Given the description of an element on the screen output the (x, y) to click on. 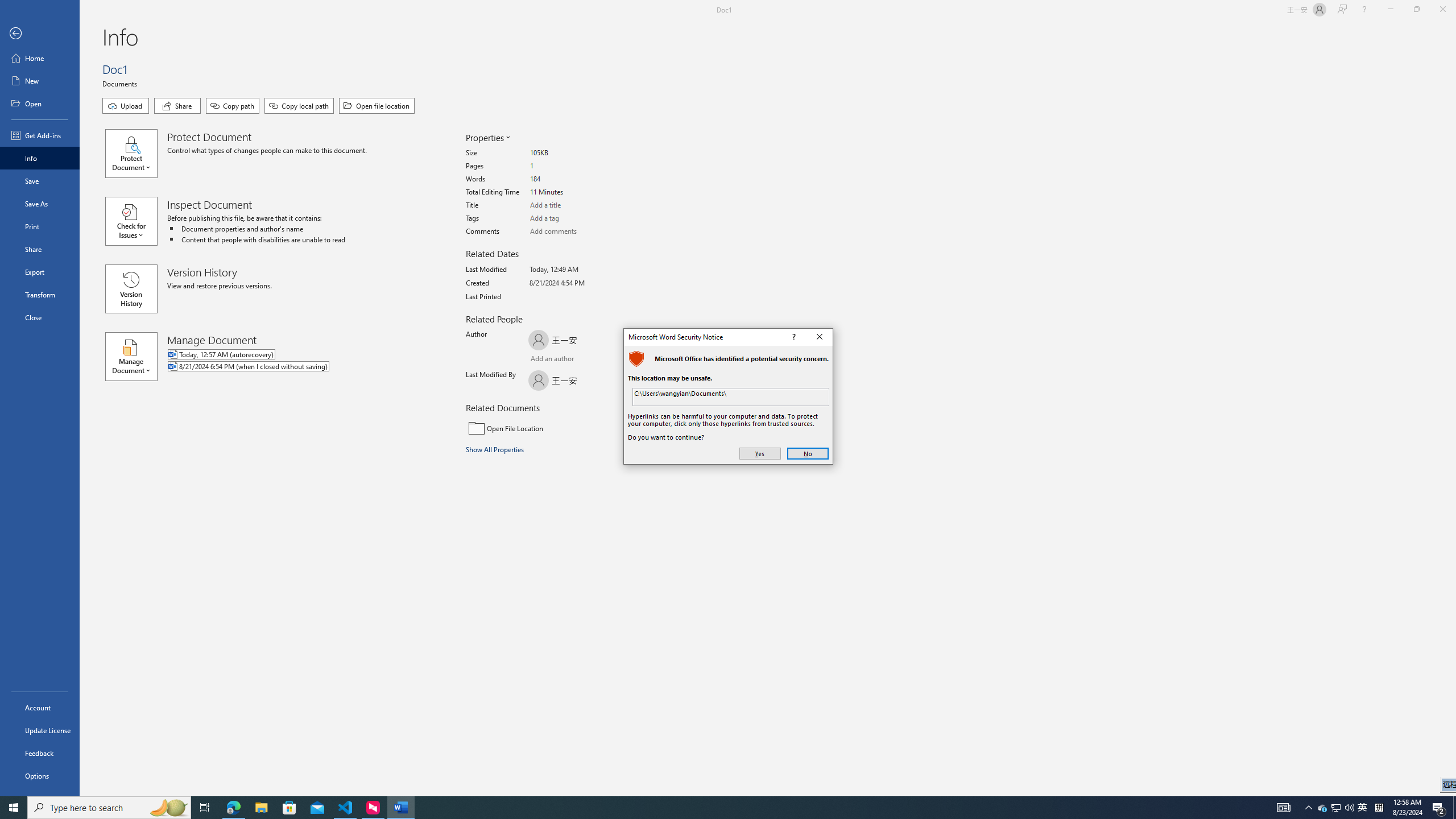
Show desktop (1454, 807)
Type here to search (108, 807)
Info (40, 157)
Documents (120, 83)
